Given the description of an element on the screen output the (x, y) to click on. 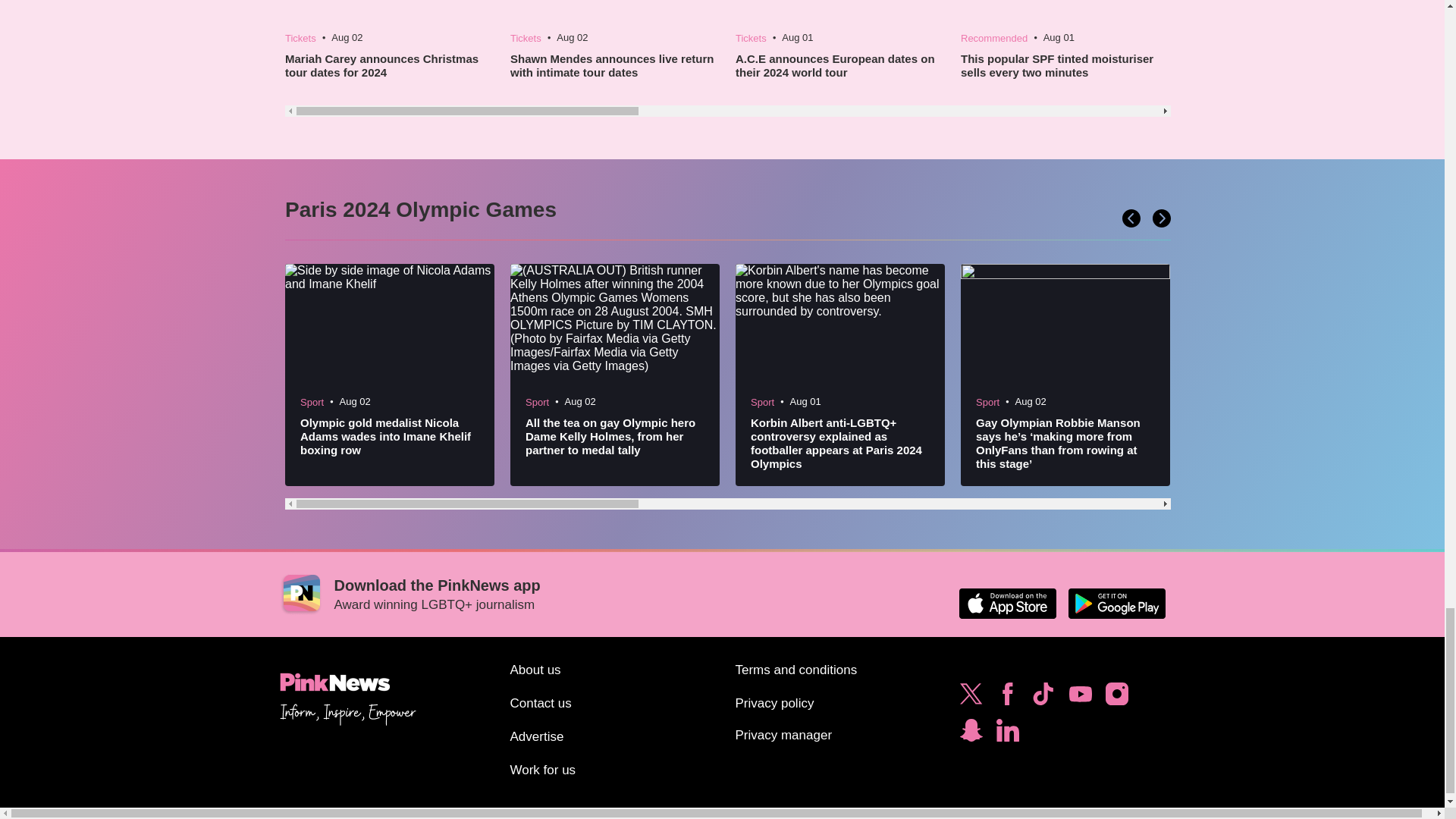
Subscribe to PinkNews on Snapchat (970, 733)
Follow PinkNews on TikTok (1042, 697)
Download the PinkNews app on Google Play (1115, 603)
Follow PinkNews on Instagram (1116, 697)
Follow PinkNews on Twitter (970, 697)
Follow PinkNews on LinkedIn (1007, 733)
Subscribe to PinkNews on YouTube (1079, 697)
Download the PinkNews app on the Apple App Store (1006, 603)
